Given the description of an element on the screen output the (x, y) to click on. 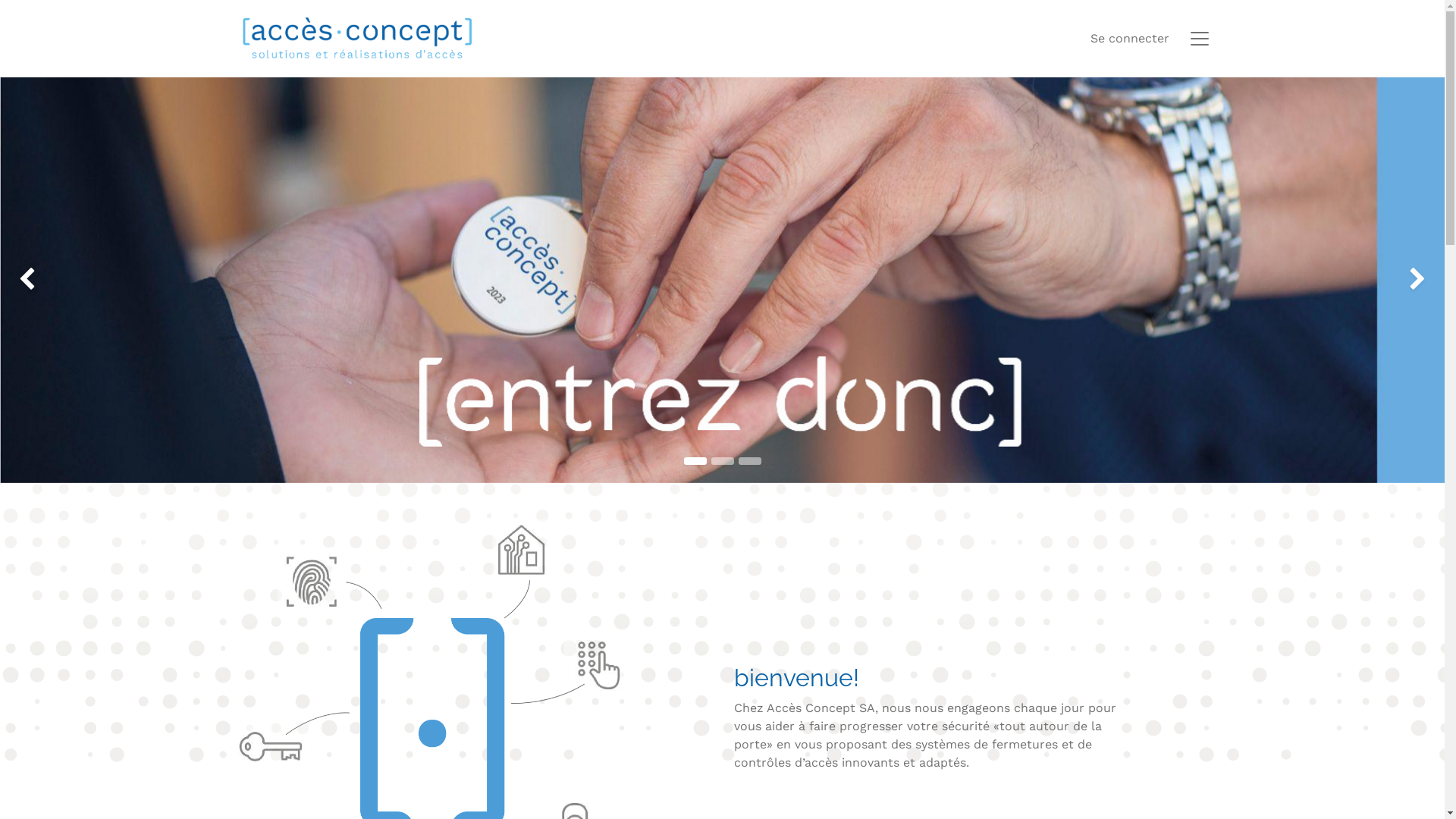
Suivant Element type: text (1386, 280)
Se connecter Element type: text (1129, 38)
